Given the description of an element on the screen output the (x, y) to click on. 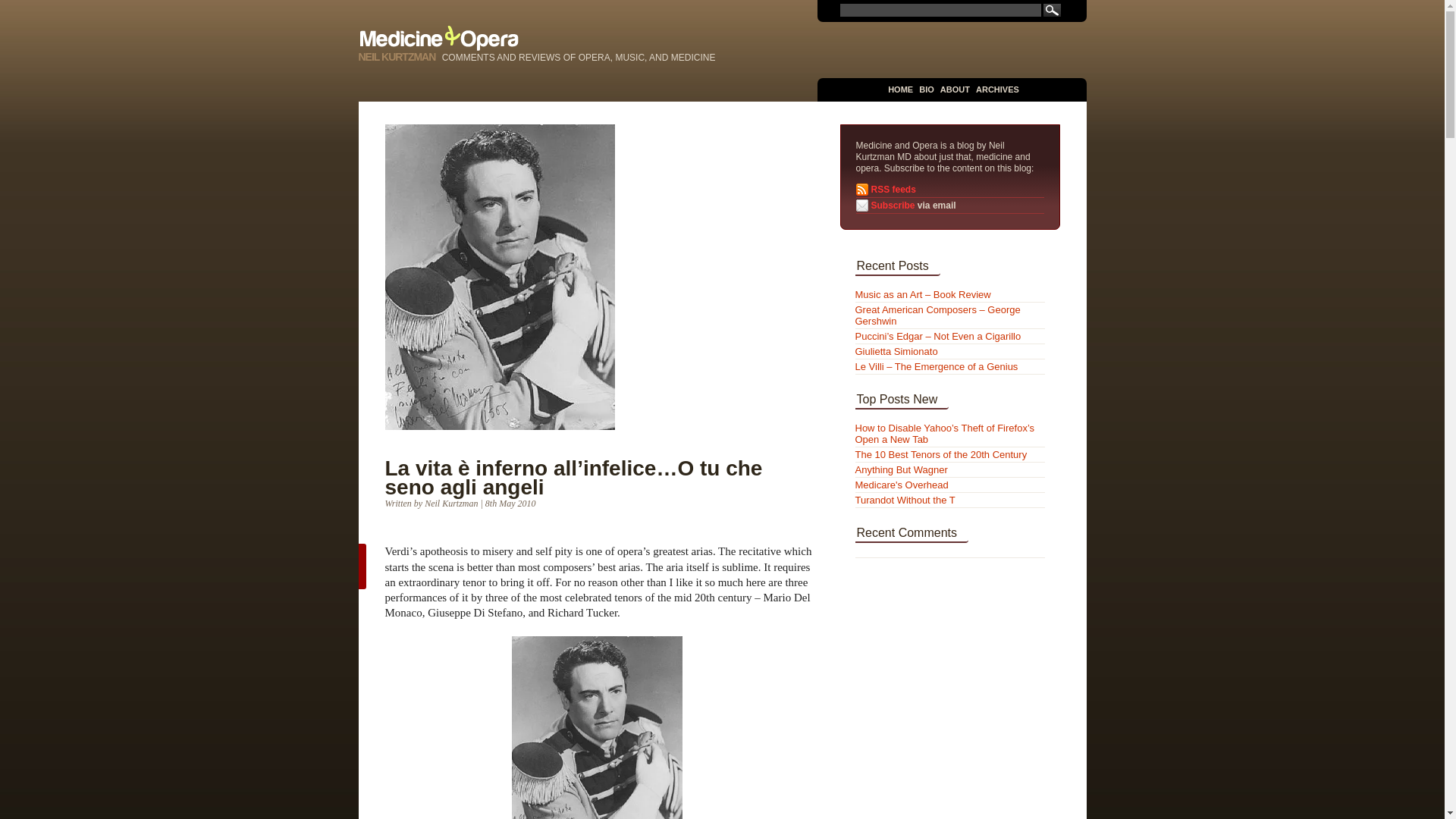
Search (1052, 10)
ARCHIVES (997, 89)
Mario del Monaco (597, 727)
Search (1052, 10)
ABOUT (954, 89)
HOME (900, 89)
Search (1052, 10)
BIO (926, 89)
